Given the description of an element on the screen output the (x, y) to click on. 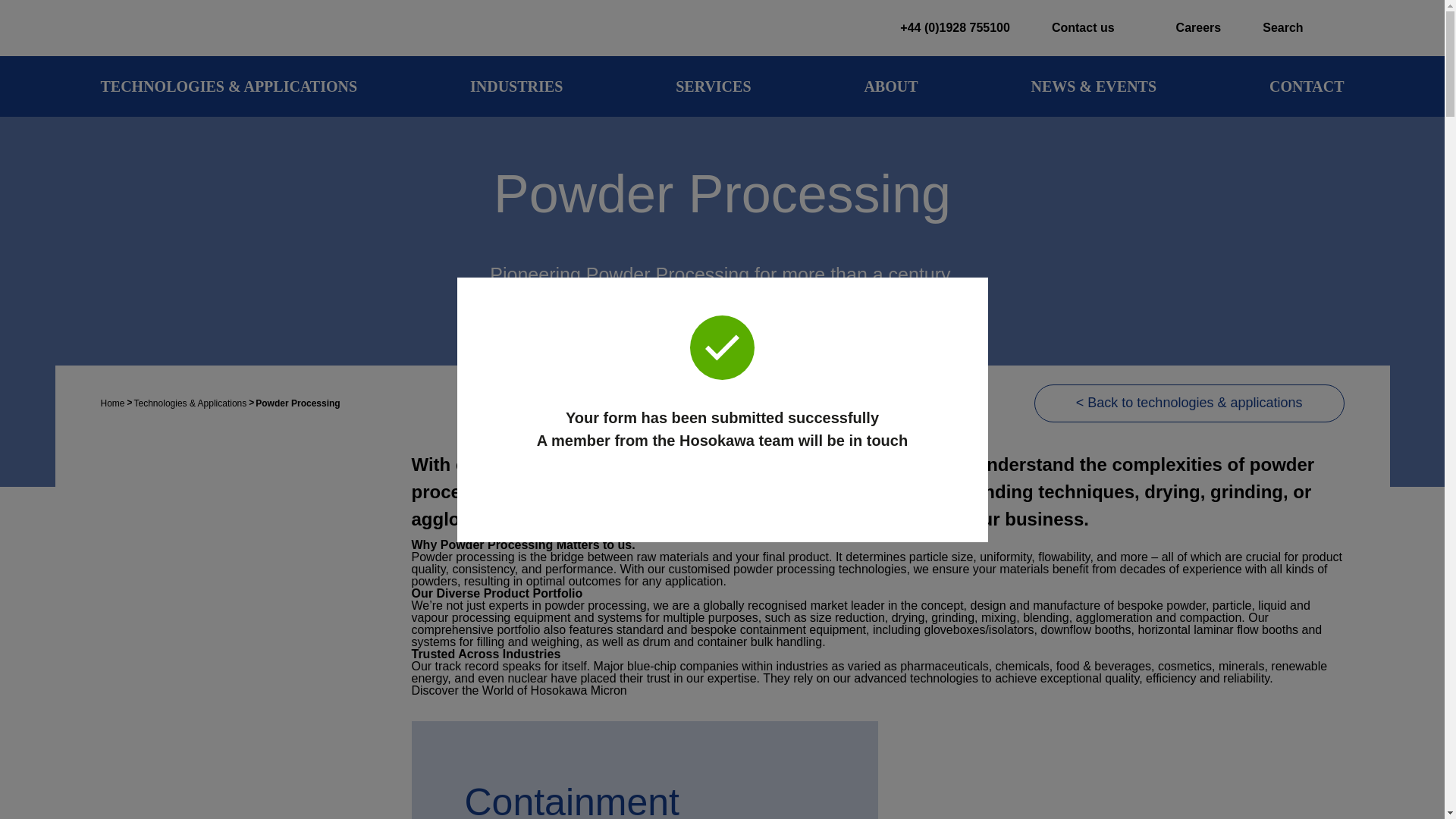
Contact us (1079, 27)
INDUSTRIES (516, 86)
Careers (1184, 27)
